Given the description of an element on the screen output the (x, y) to click on. 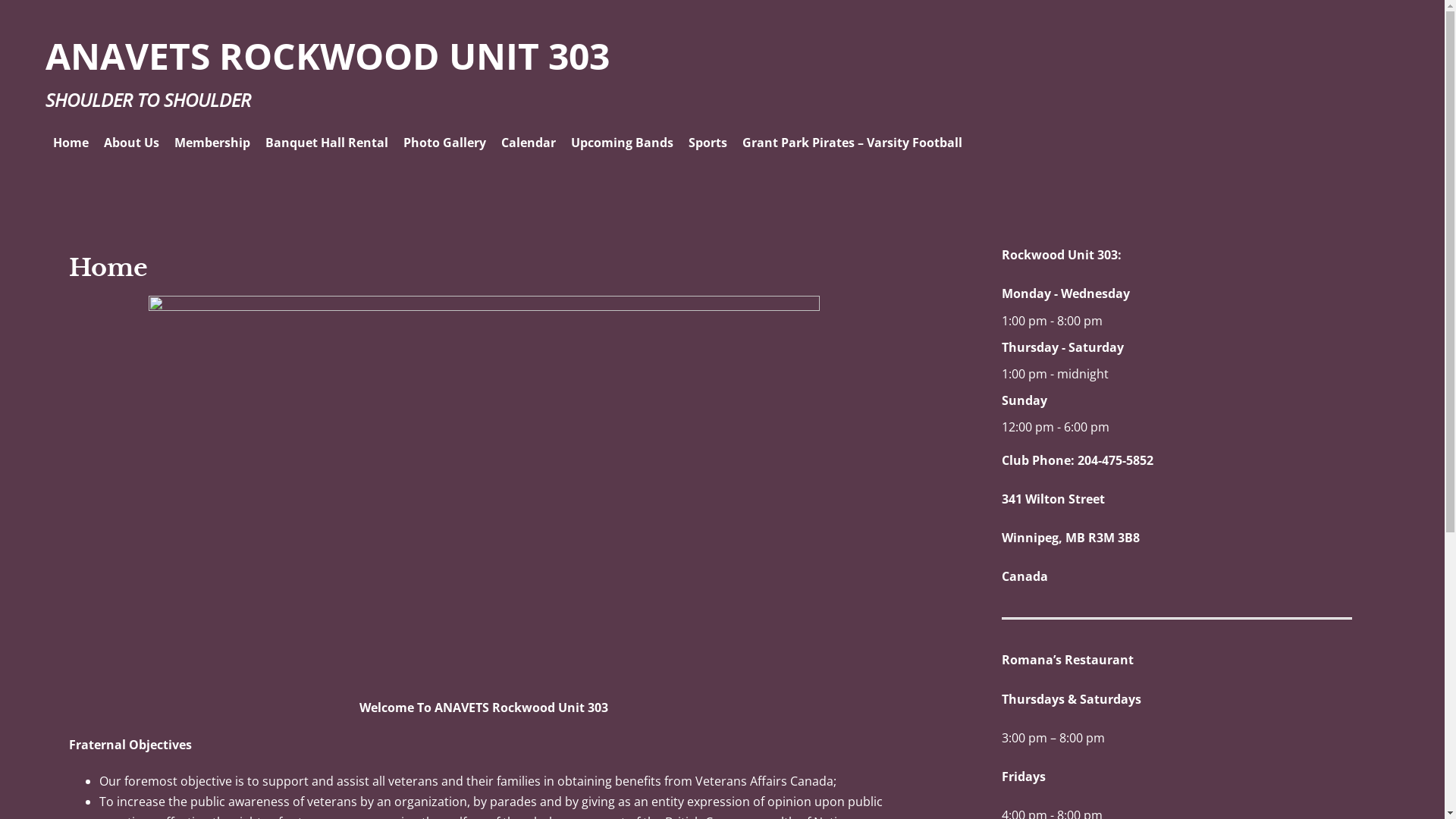
Sports Element type: text (707, 142)
Banquet Hall Rental Element type: text (326, 142)
Calendar Element type: text (528, 142)
Membership Element type: text (212, 142)
Photo Gallery Element type: text (444, 142)
ANAVETS ROCKWOOD UNIT 303 Element type: text (327, 55)
Upcoming Bands Element type: text (622, 142)
Home Element type: text (70, 142)
About Us Element type: text (131, 142)
